Given the description of an element on the screen output the (x, y) to click on. 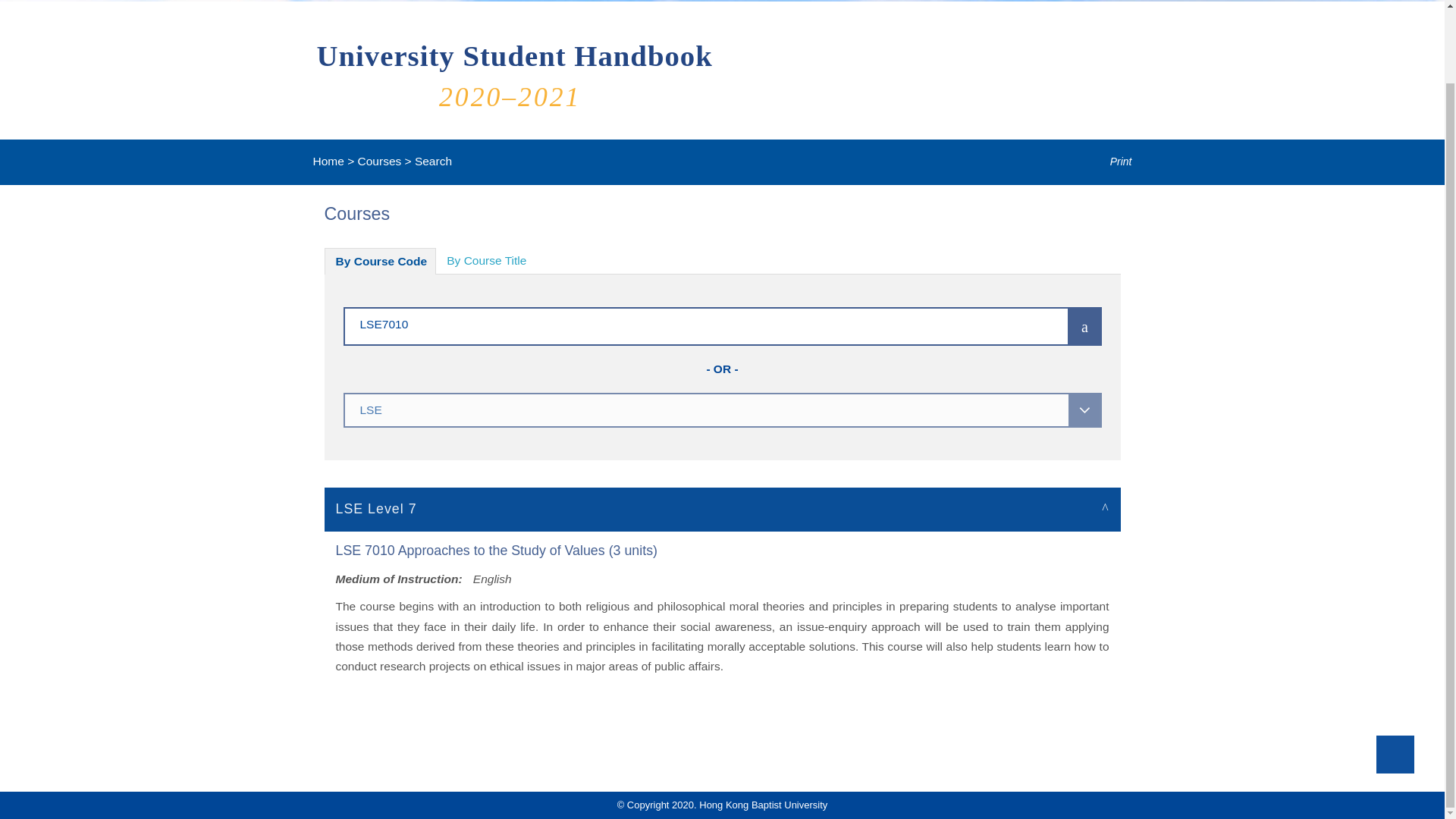
Scroll To Top (1394, 672)
Scroll To Top (1394, 672)
By Course Code (381, 261)
Scroll To Top (1394, 672)
By Course Title (486, 260)
LSE Level 7 (722, 508)
LSE7010 (683, 322)
LSE7010 (683, 322)
Home (328, 160)
Courses (379, 160)
Print (1110, 161)
